Given the description of an element on the screen output the (x, y) to click on. 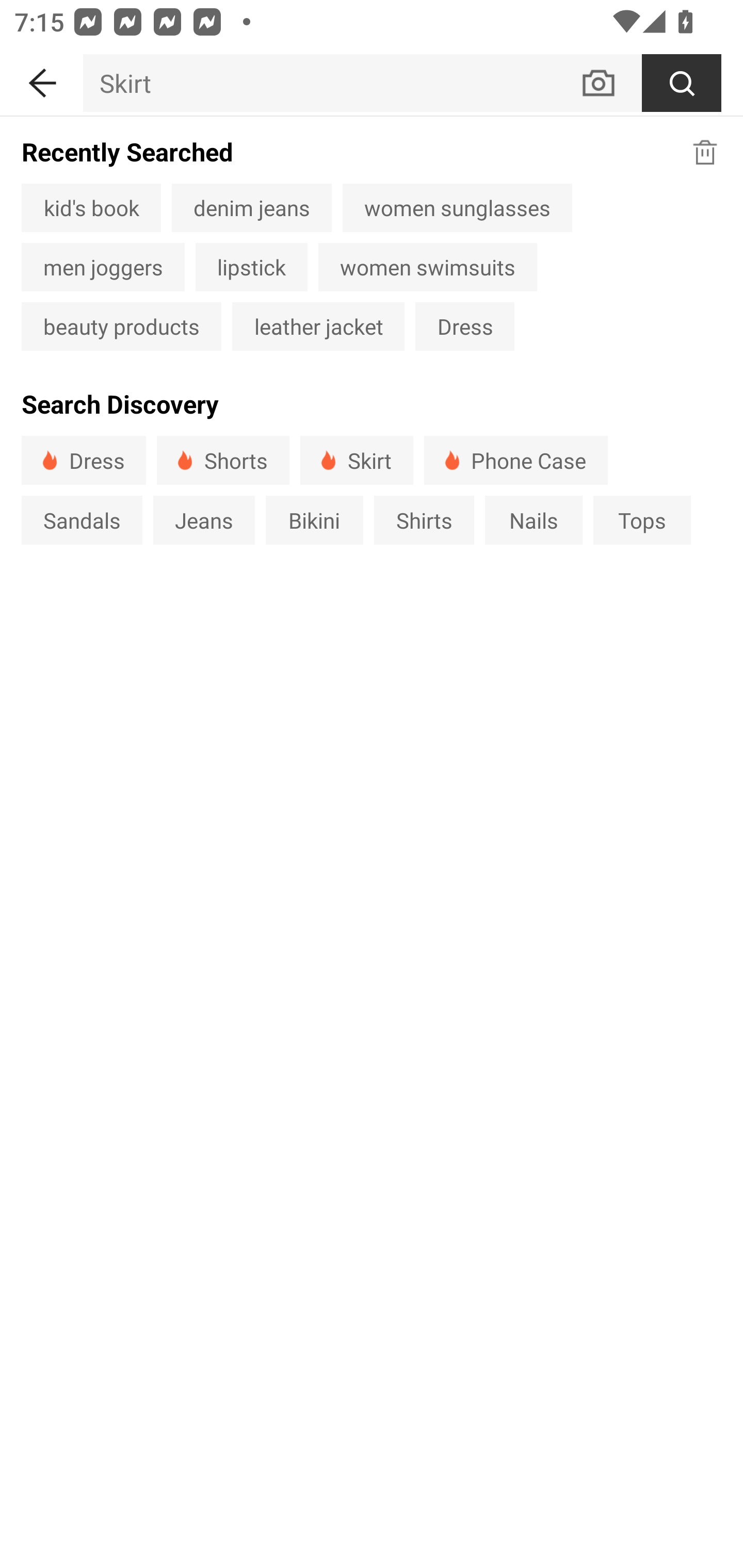
BACK (41, 79)
Skirt (330, 82)
kid's book (91, 207)
denim jeans (251, 207)
women sunglasses (457, 207)
men joggers (103, 267)
lipstick (251, 267)
women swimsuits (427, 267)
beauty products (121, 326)
leather jacket (317, 326)
Dress (464, 326)
Dress (83, 459)
Shorts (222, 459)
Skirt (356, 459)
Phone Case (515, 459)
Sandals (81, 519)
Jeans (203, 519)
Bikini (314, 519)
Shirts (423, 519)
Nails (533, 519)
Tops (641, 519)
